Given the description of an element on the screen output the (x, y) to click on. 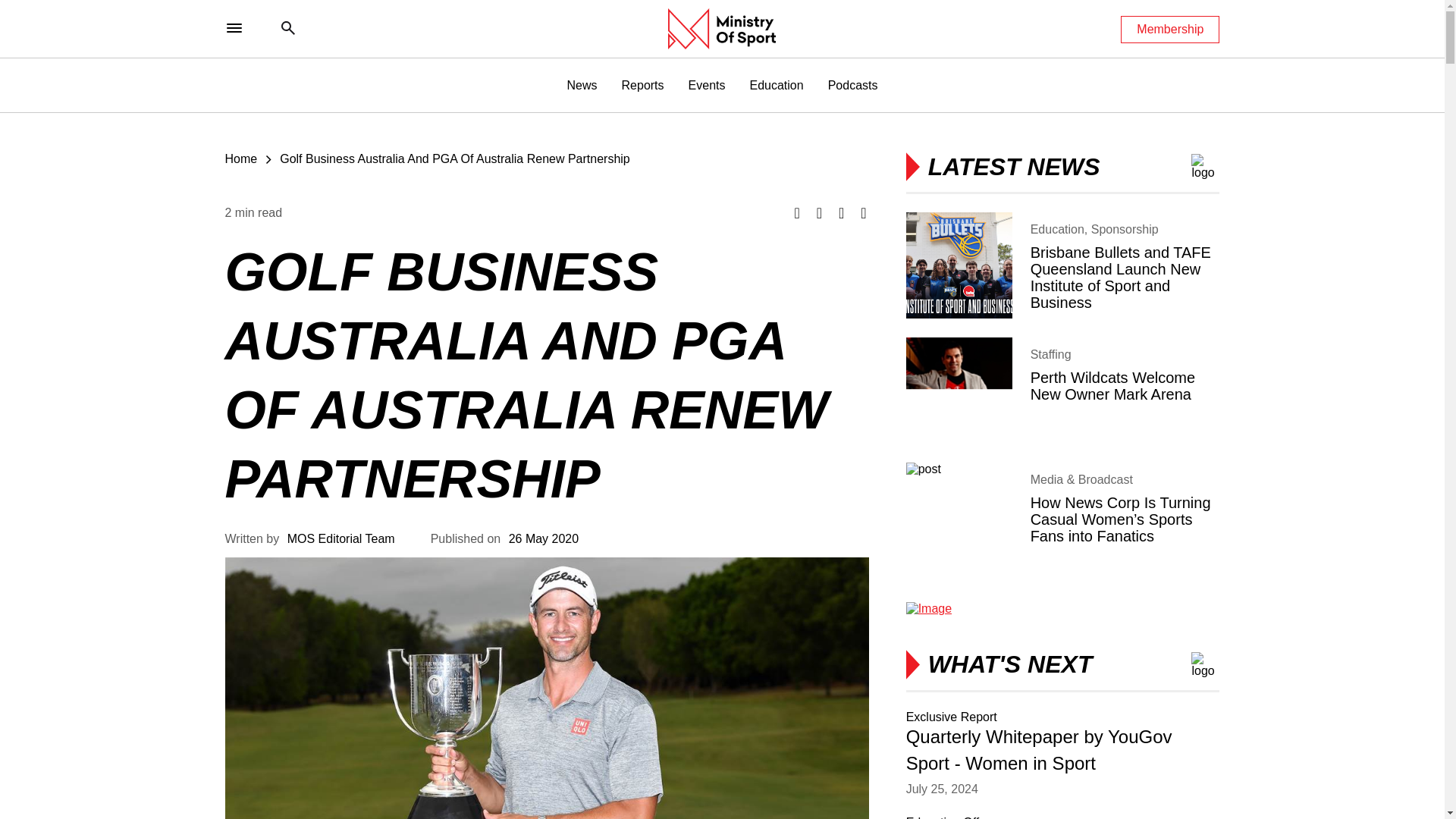
Membership (1170, 29)
Podcasts (852, 85)
Education (776, 85)
Ministry of Sport (722, 28)
Home (240, 158)
Perth Wildcats Welcome New Owner Mark Arena (1062, 390)
